Given the description of an element on the screen output the (x, y) to click on. 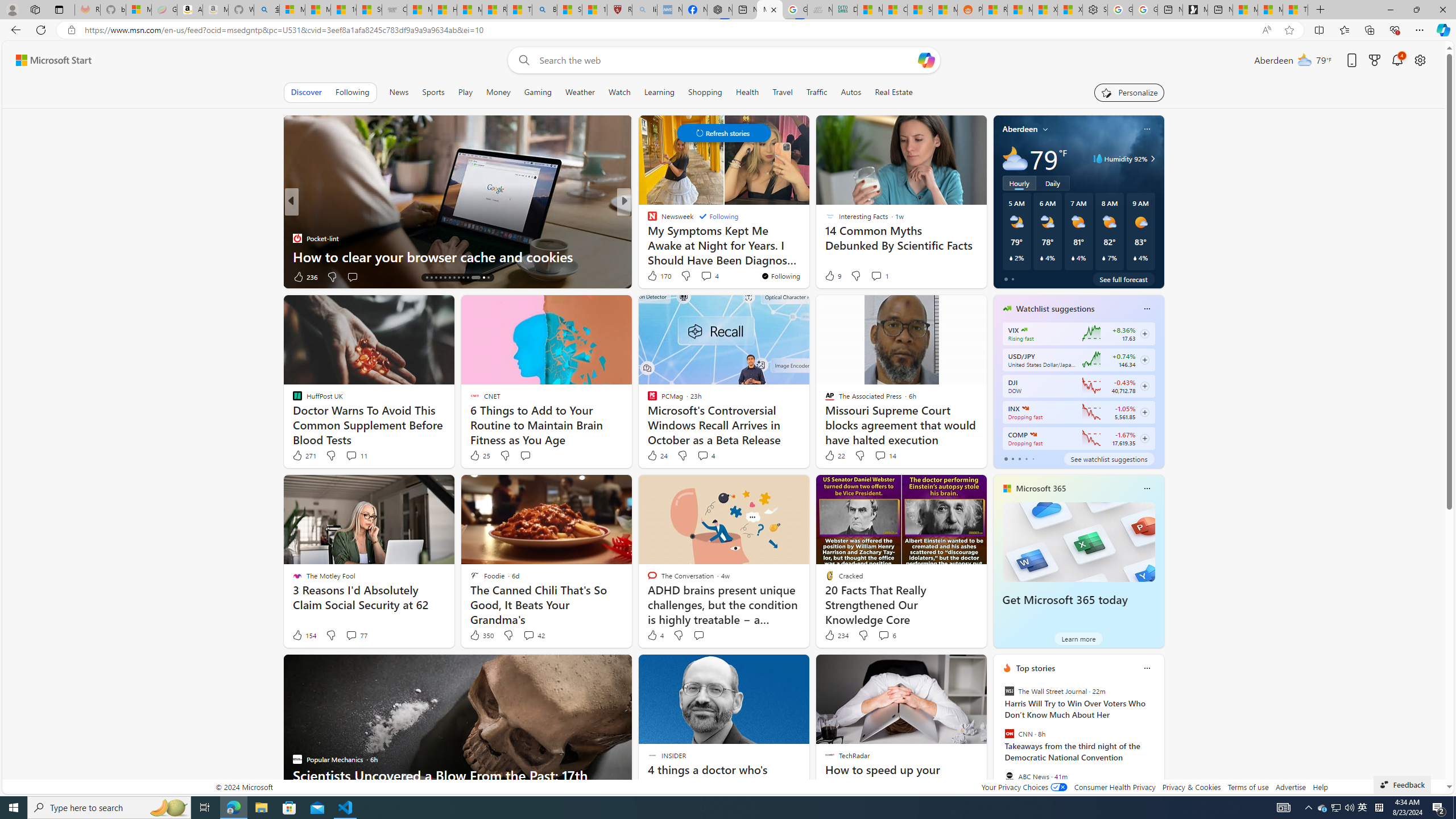
350 Like (480, 634)
How to clear your browser cache and cookies (457, 256)
Recipes - MSN (494, 9)
Your Privacy Choices (1024, 786)
24 Like (657, 455)
Science - MSN (568, 9)
Watchlist suggestions (1055, 308)
R******* | Trusted Community Engagement and Contributions (993, 9)
636 Like (654, 276)
